Given the description of an element on the screen output the (x, y) to click on. 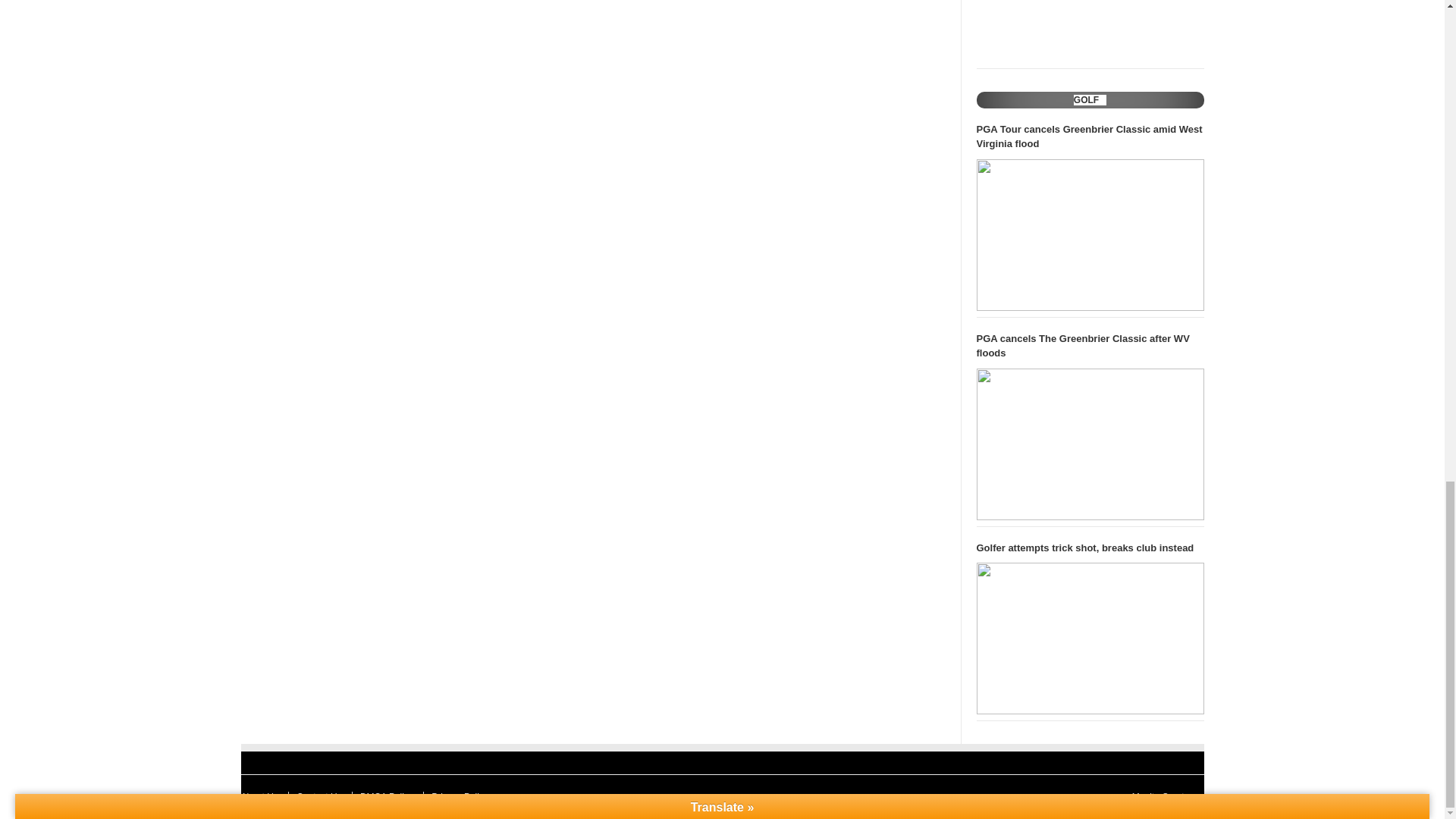
GOLF (1086, 100)
Thiem beats Federer in 3 sets to reach Mercedes Cup final (1090, 31)
PGA cancels The Greenbrier Classic after WV floods (1090, 444)
PGA Tour cancels Greenbrier Classic amid West Virginia flood (1090, 136)
Golfer attempts trick shot, breaks club instead (1090, 548)
About Us (259, 796)
PGA Tour cancels Greenbrier Classic amid West Virginia flood (1090, 234)
Golfer attempts trick shot, breaks club instead (1090, 638)
PGA cancels The Greenbrier Classic after WV floods (1090, 346)
